Given the description of an element on the screen output the (x, y) to click on. 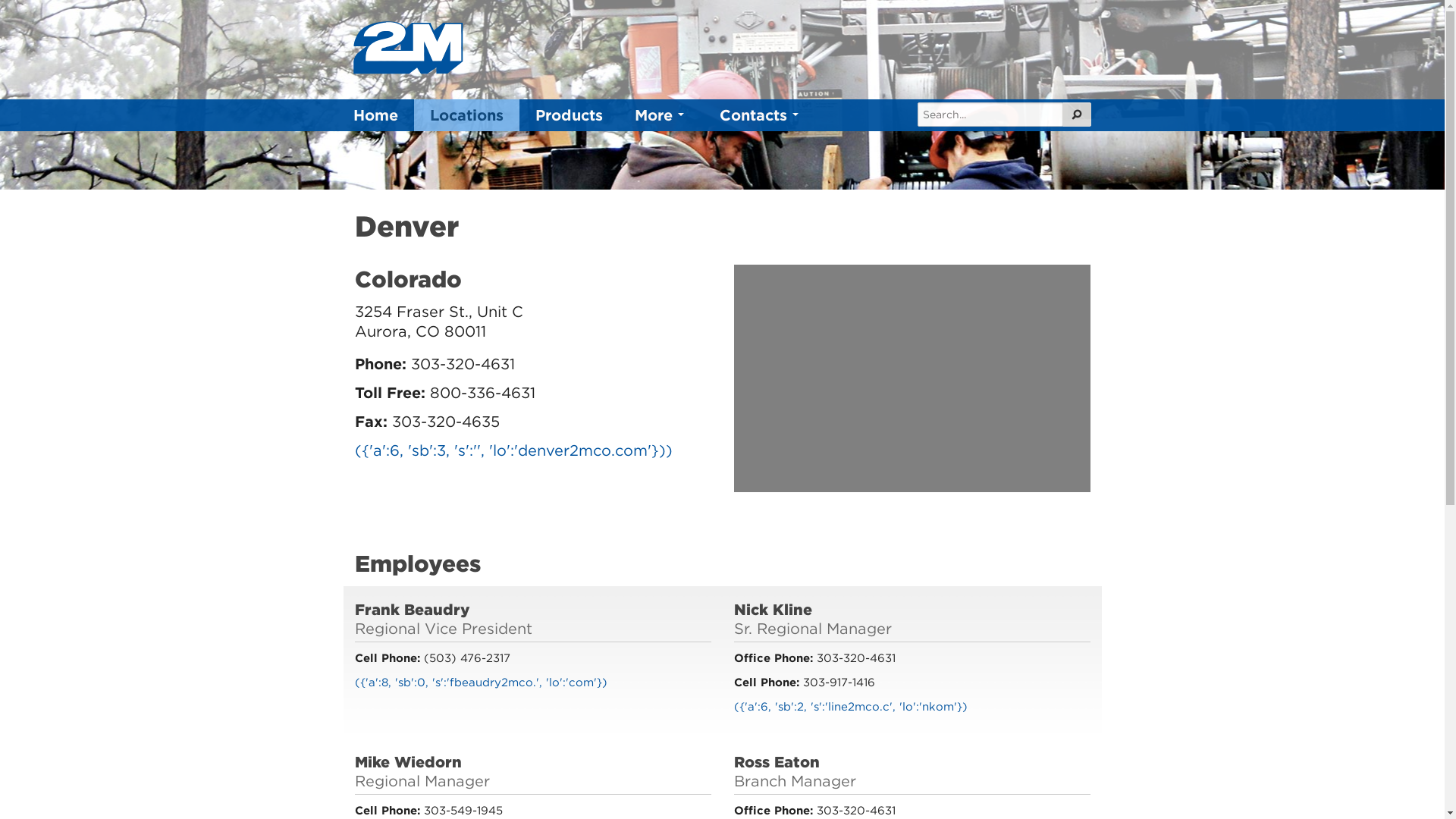
More Element type: text (660, 115)
Home Element type: text (375, 115)
Locations Element type: text (466, 115)
Contacts Element type: text (760, 115)
Products Element type: text (568, 115)
